Given the description of an element on the screen output the (x, y) to click on. 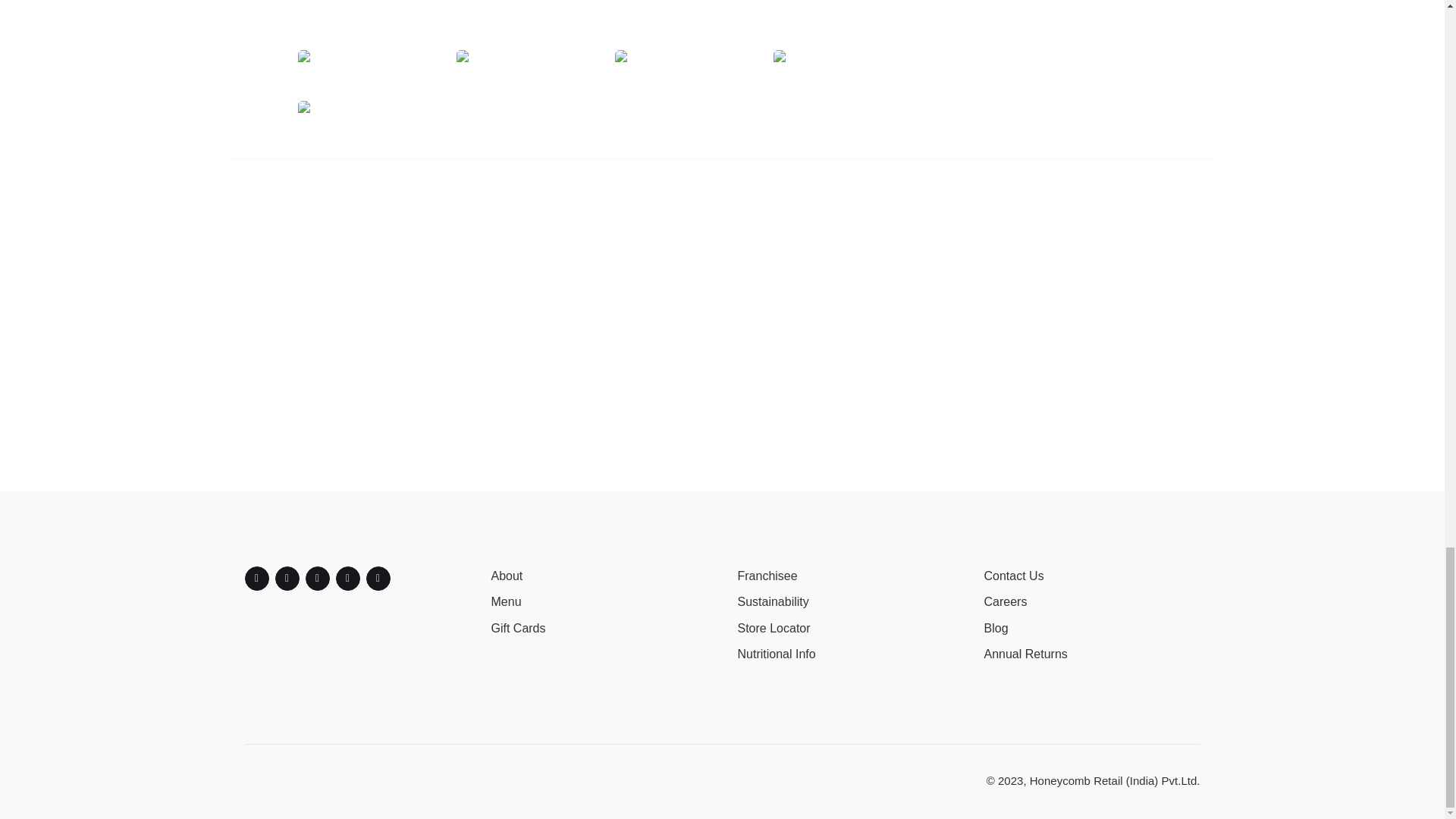
Sustainability (772, 601)
Franchisee (766, 575)
Gift Cards (519, 627)
Menu (506, 601)
About (507, 575)
